Given the description of an element on the screen output the (x, y) to click on. 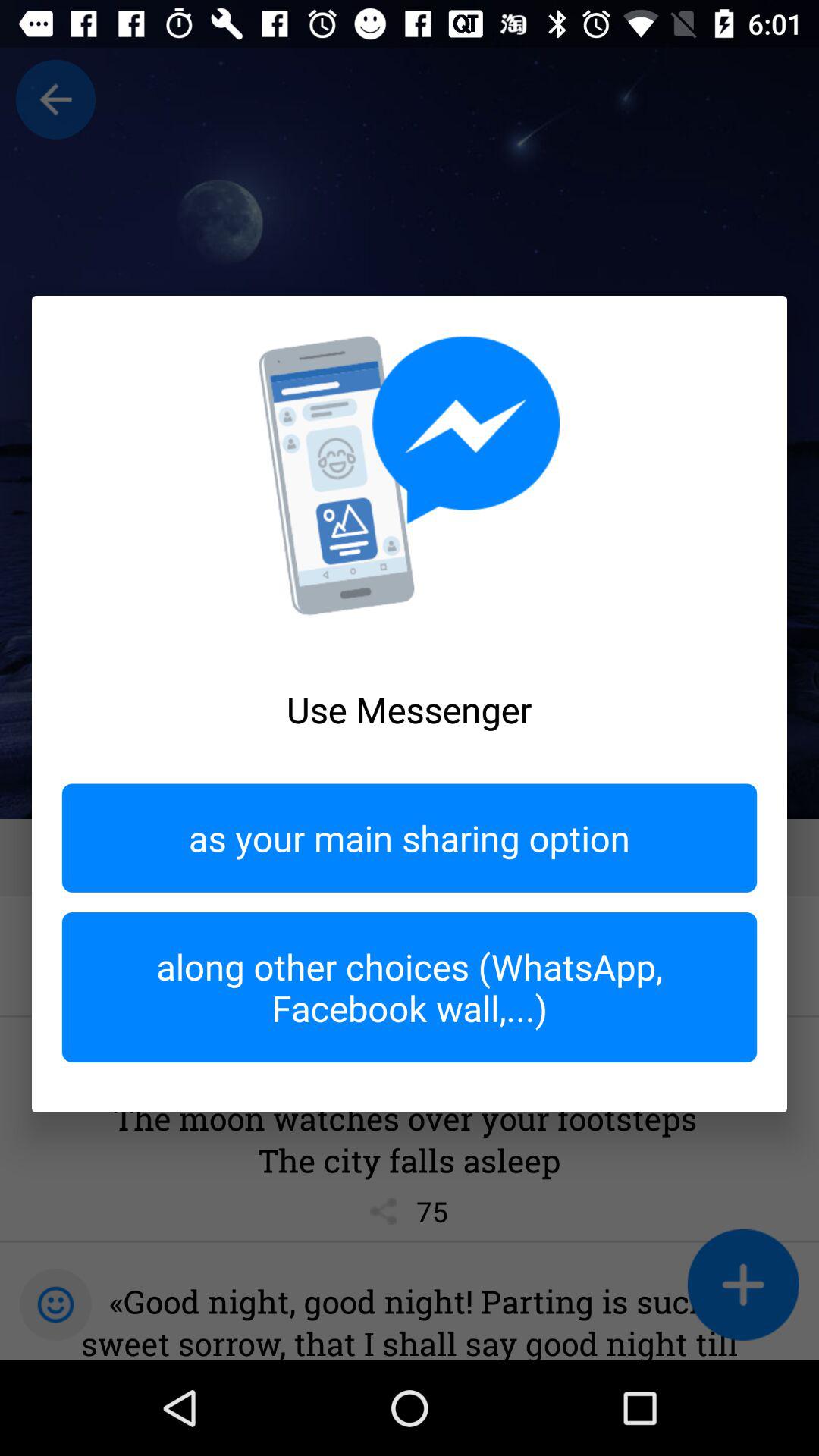
tap icon below use messenger item (409, 837)
